Given the description of an element on the screen output the (x, y) to click on. 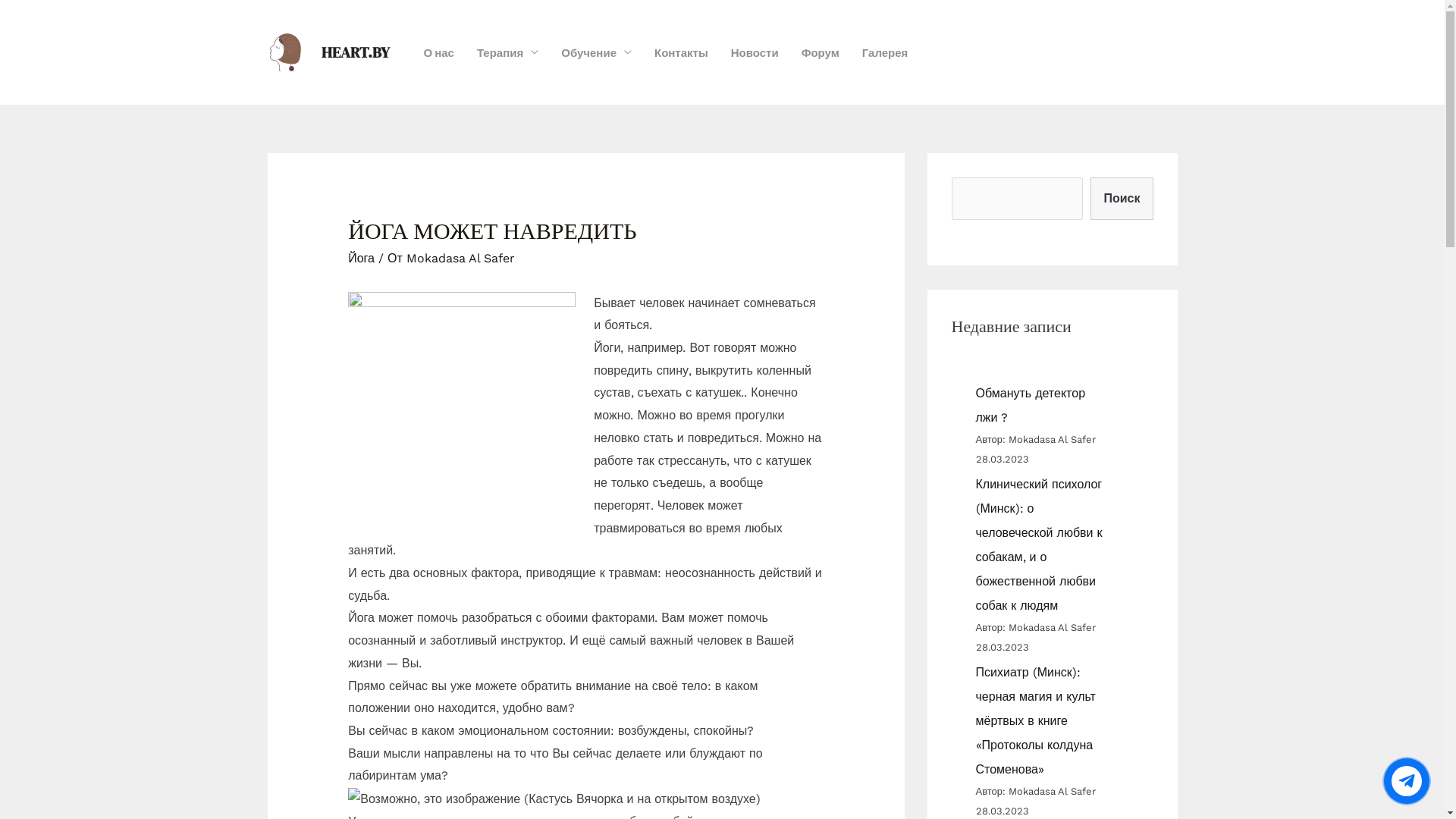
HEART.BY Element type: text (355, 51)
Mokadasa Al Safer Element type: text (460, 258)
